Given the description of an element on the screen output the (x, y) to click on. 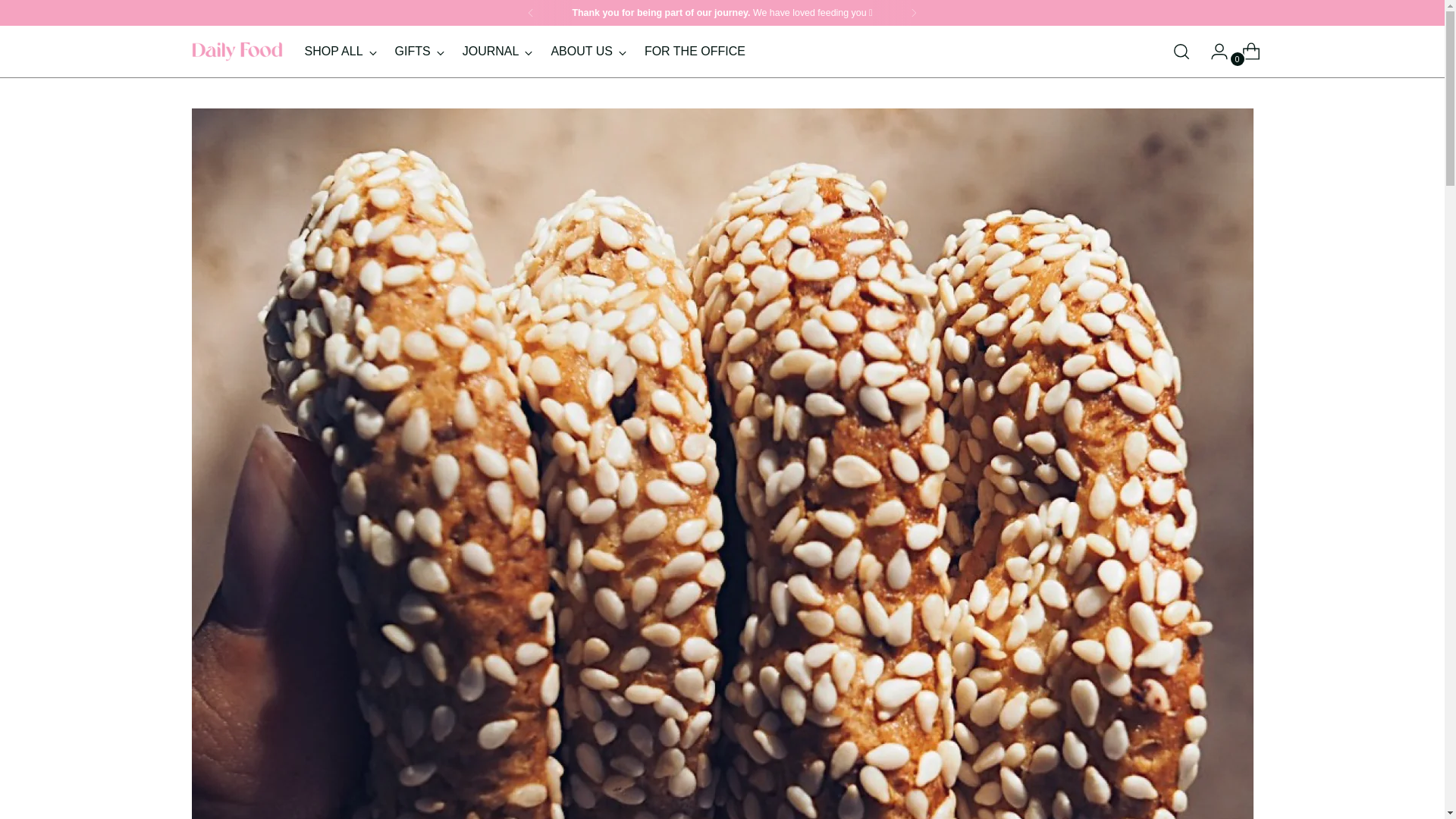
0 (523, 50)
Previous (1245, 51)
GIFTS (530, 12)
SHOP ALL (419, 51)
Next (340, 51)
JOURNAL (913, 12)
FOR THE OFFICE (497, 51)
ABOUT US (695, 51)
